Given the description of an element on the screen output the (x, y) to click on. 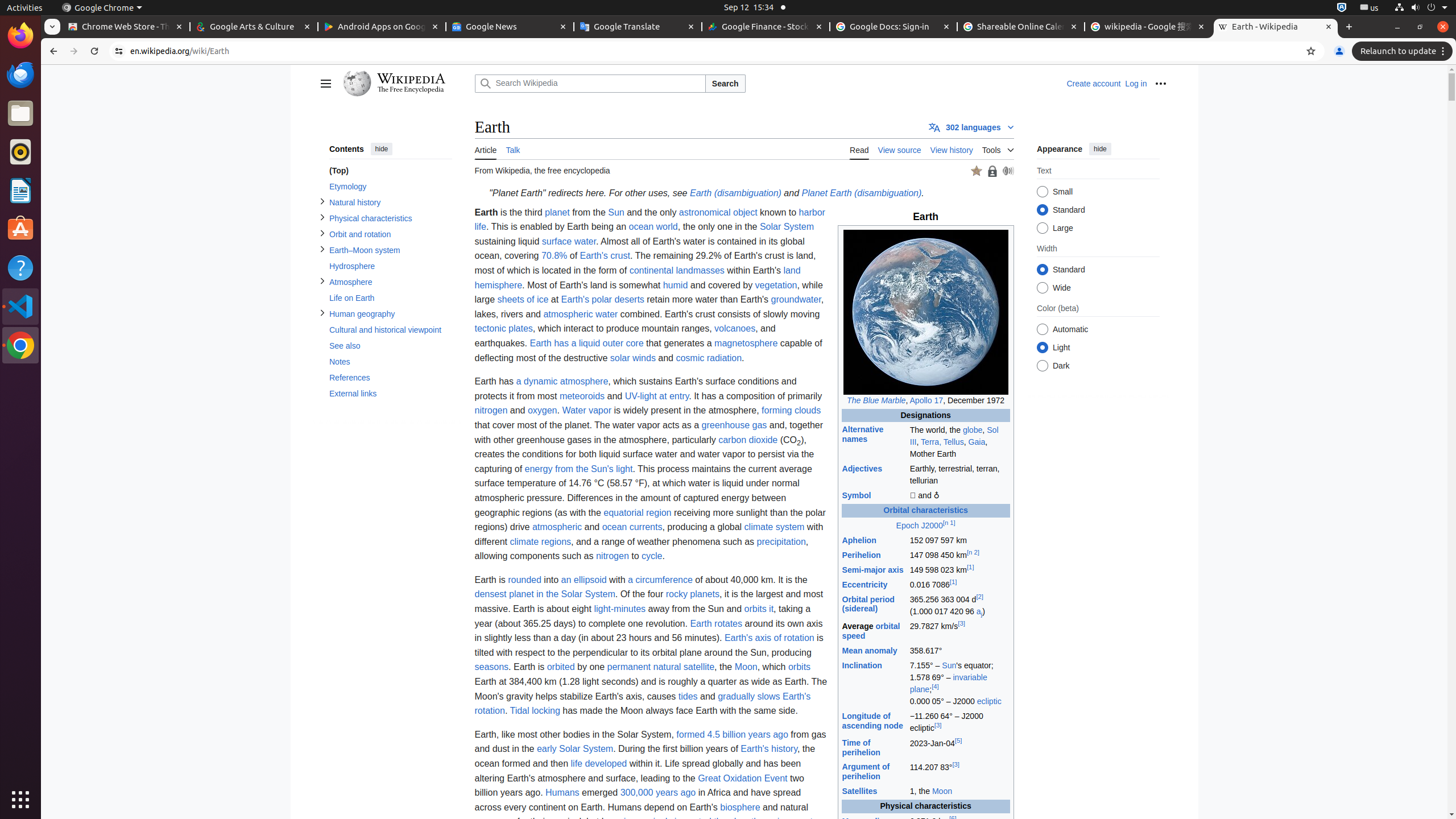
land hemisphere Element type: link (637, 277)
114.20783°[3] Element type: table-cell (959, 771)
Cultural and historical viewpoint Element type: link (390, 329)
Sun Element type: link (948, 664)
Listen to this article Element type: link (1008, 170)
